Given the description of an element on the screen output the (x, y) to click on. 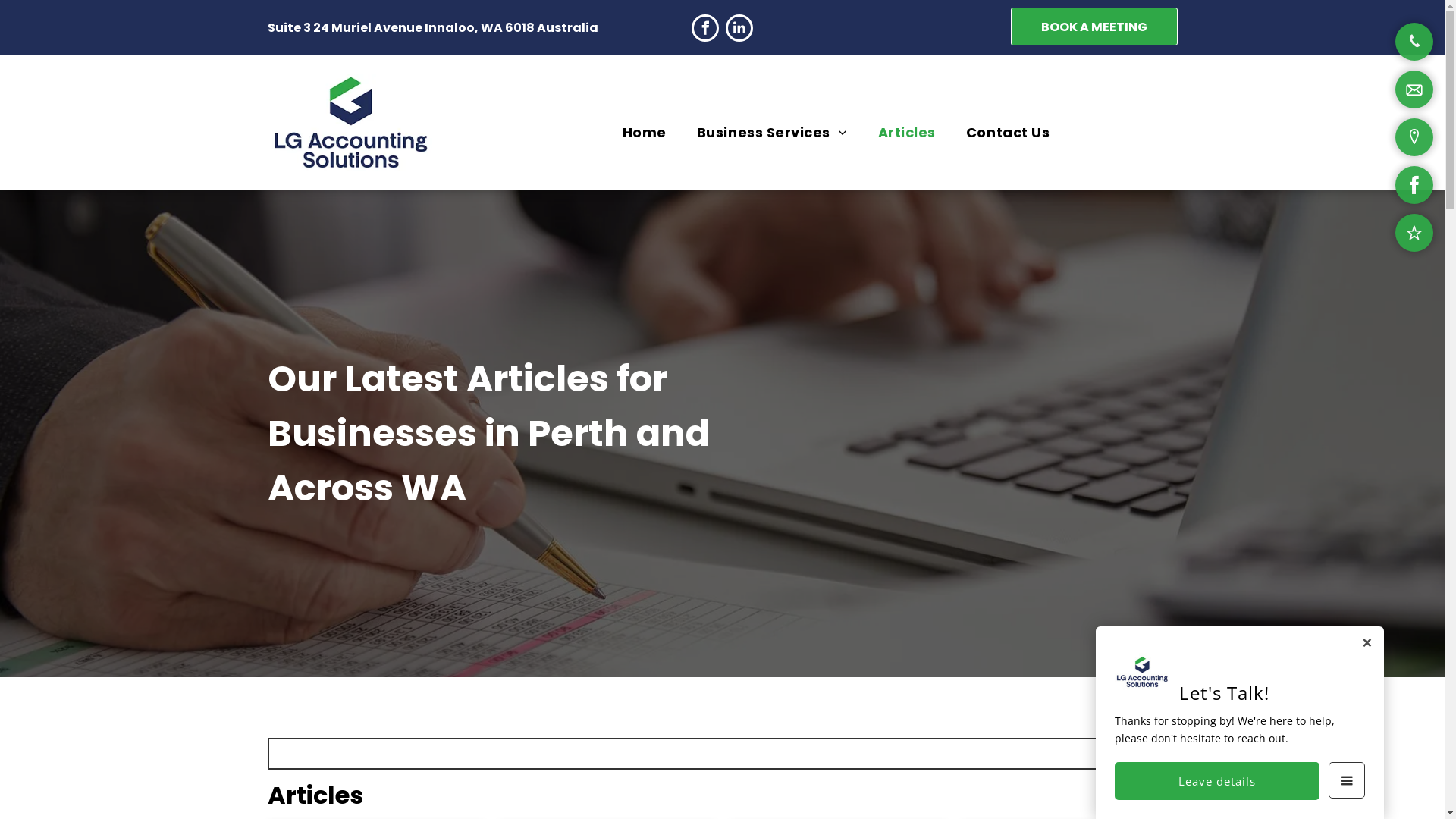
Home Element type: text (644, 131)
BOOK A MEETING Element type: text (1093, 26)
LG Accounting Solutions Element type: hover (349, 122)
Leave details Element type: text (1216, 781)
Suite 3 24 Muriel Avenue Innaloo, WA 6018 Australia Element type: text (431, 27)
Contact Us Element type: text (1007, 131)
Business Services Element type: text (771, 131)
Articles Element type: text (906, 131)
